Given the description of an element on the screen output the (x, y) to click on. 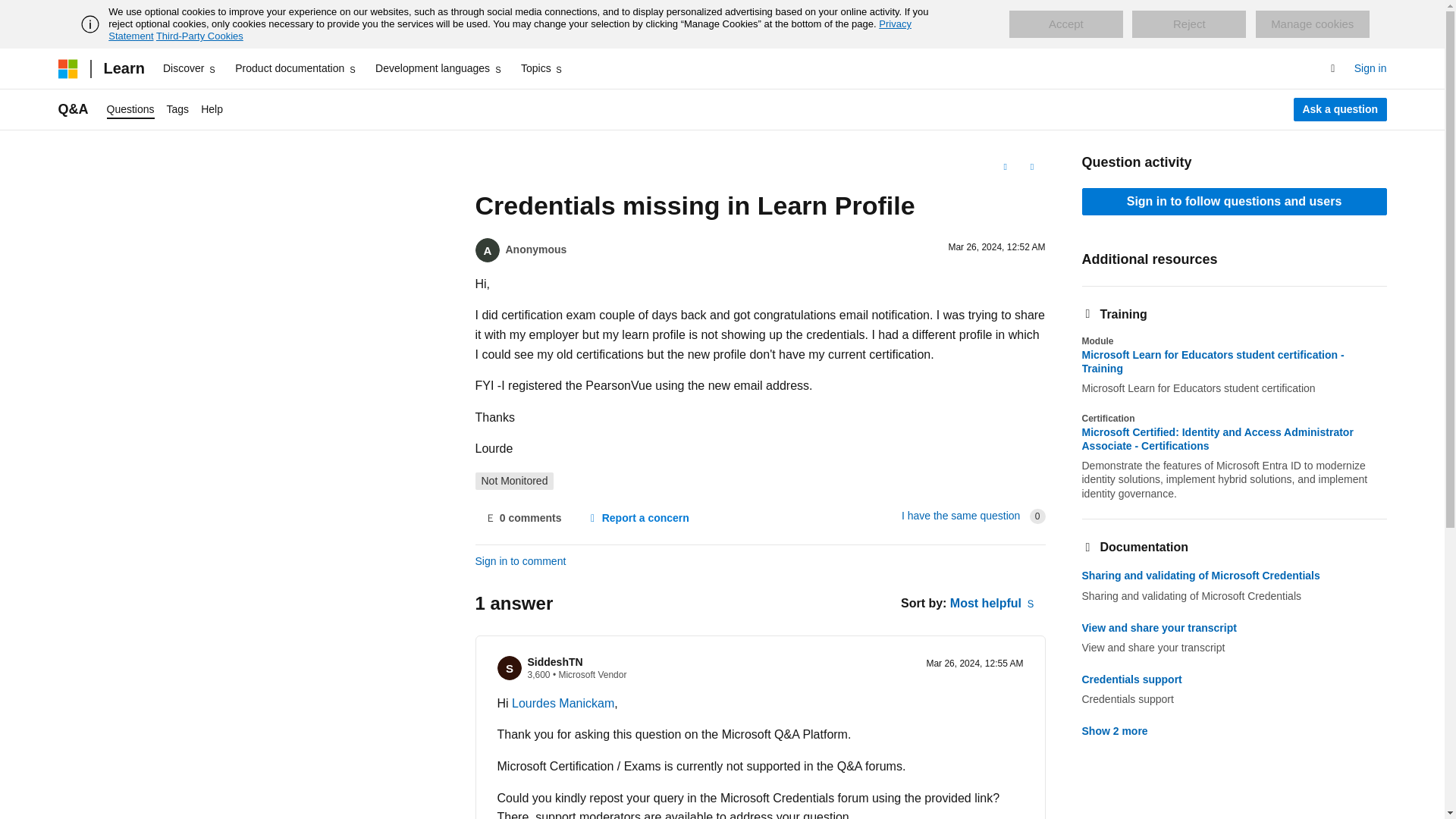
Accept (1065, 23)
Report a concern (637, 518)
Third-Party Cookies (199, 35)
Reject (1189, 23)
Skip to main content (11, 11)
Questions (130, 109)
Ask a question (1340, 109)
No comments (522, 518)
Reputation points (538, 674)
Sign in (1370, 68)
